Given the description of an element on the screen output the (x, y) to click on. 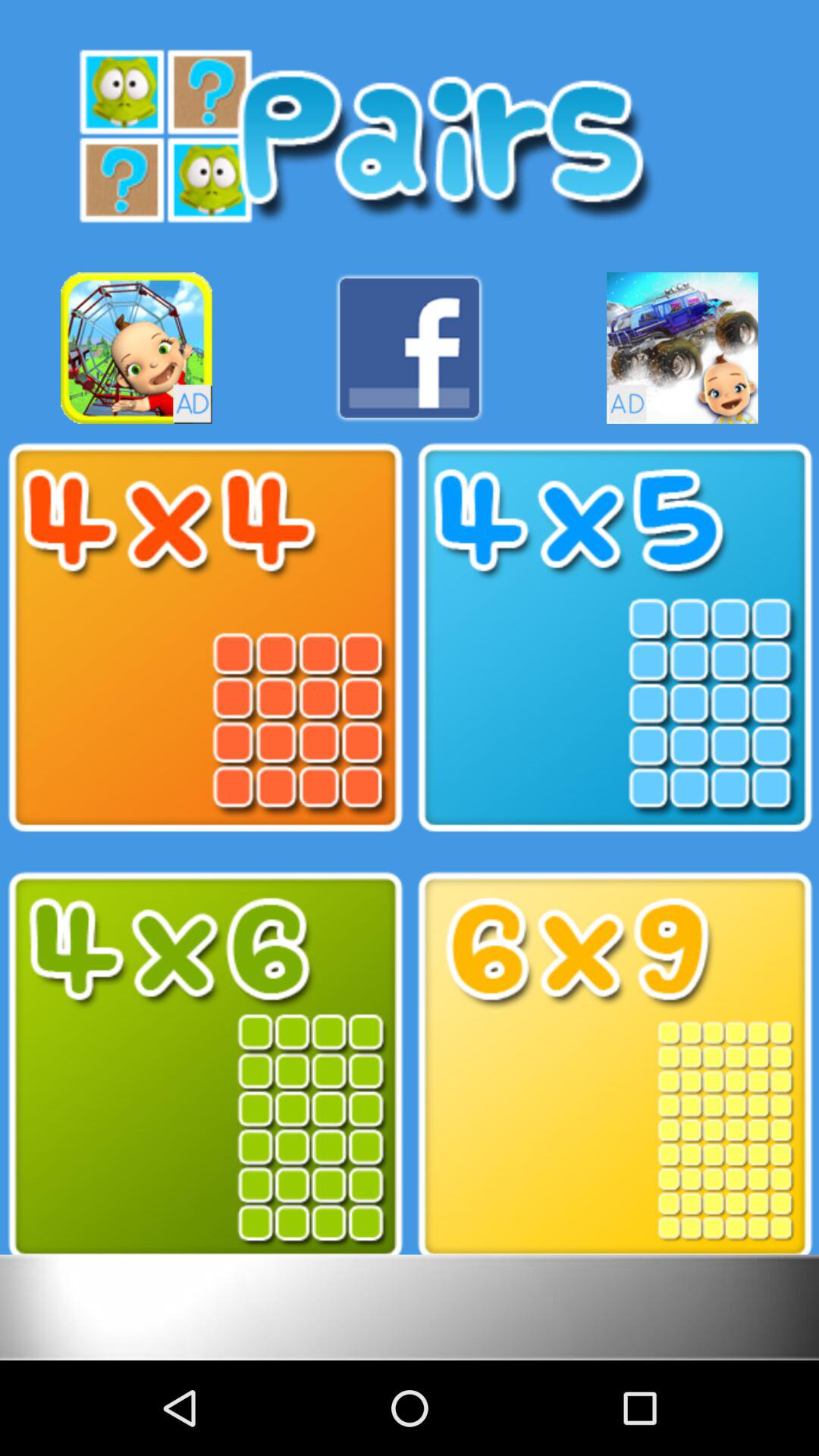
select the one picture (614, 637)
